Given the description of an element on the screen output the (x, y) to click on. 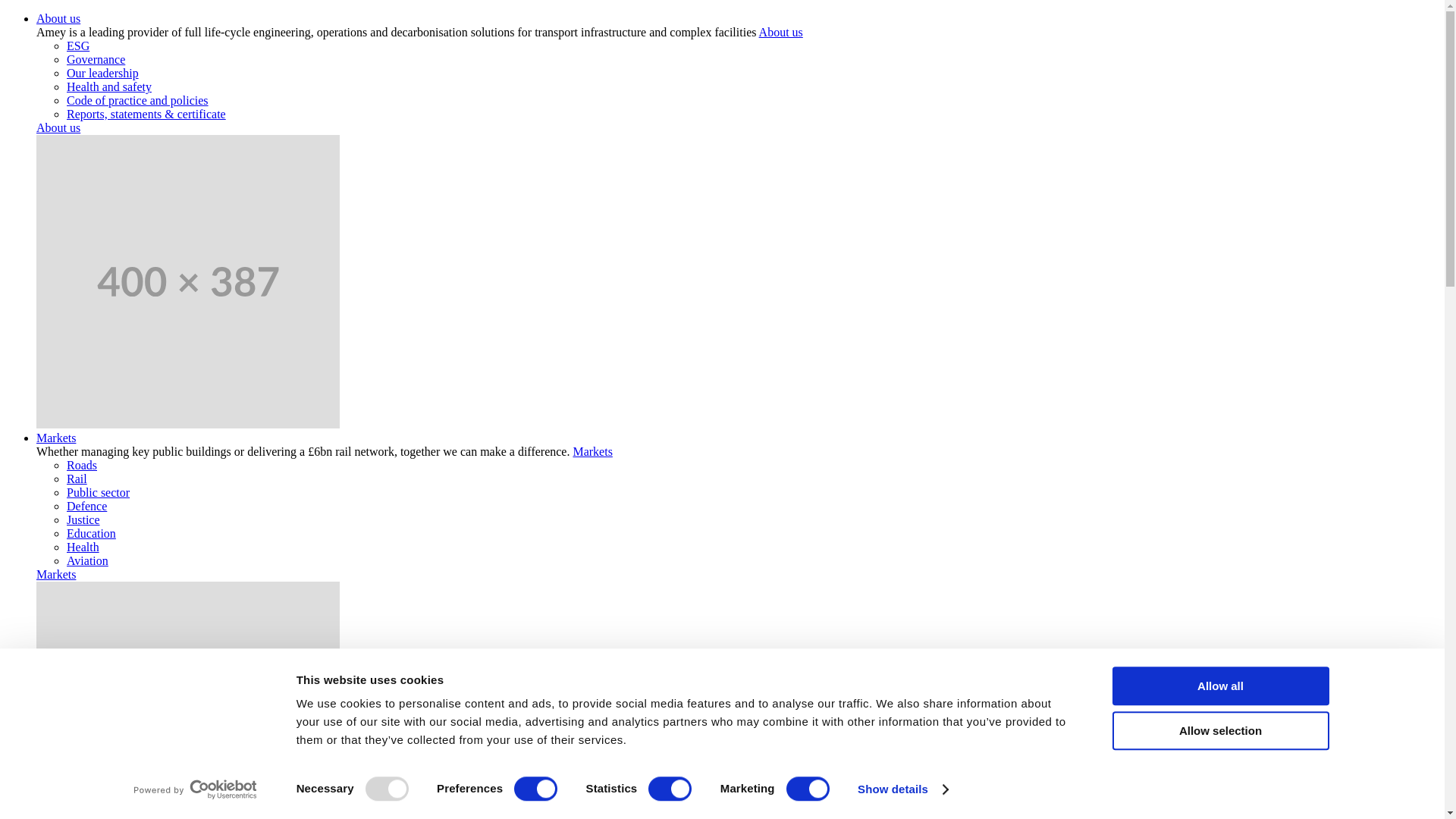
Show details (902, 789)
